Given the description of an element on the screen output the (x, y) to click on. 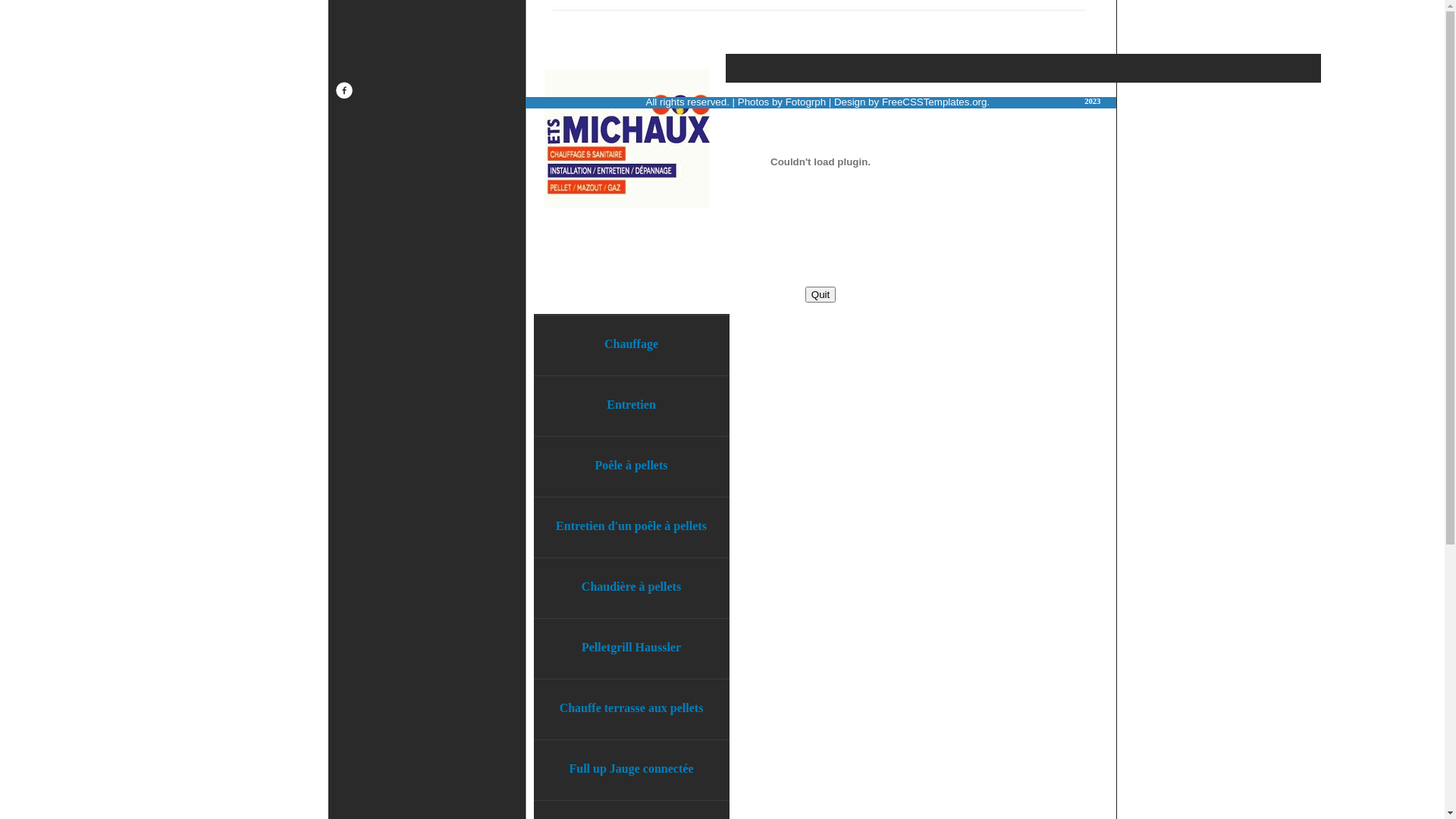
Pelletgrill Haussler Element type: text (631, 647)
Quit Element type: text (820, 294)
Chauffage Element type: text (631, 343)
Entretien Element type: text (631, 404)
  Element type: text (344, 95)
Chauffe terrasse aux pellets Element type: text (631, 707)
